Given the description of an element on the screen output the (x, y) to click on. 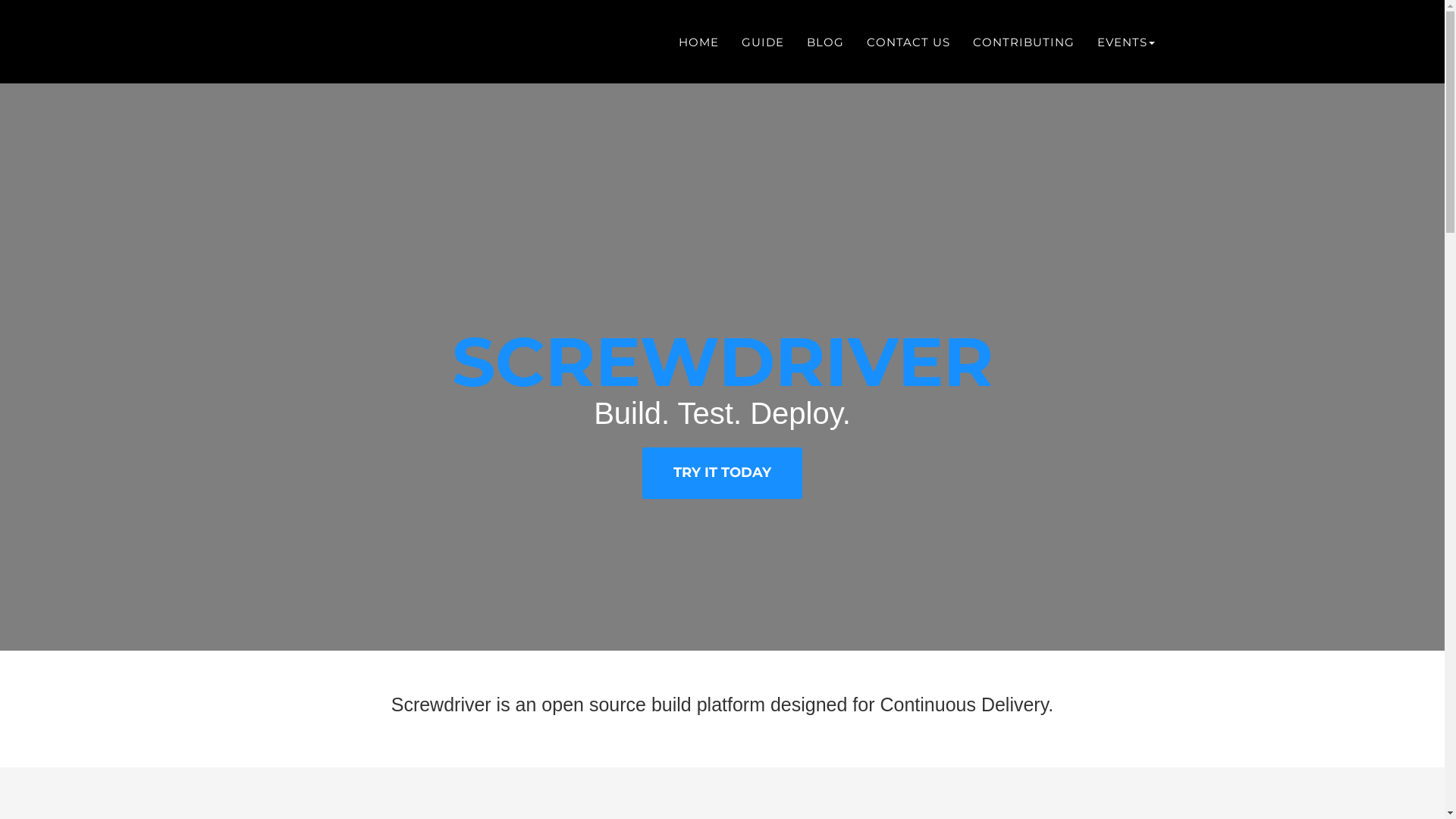
SCREWDRIVER.CD Element type: text (352, 43)
EVENTS Element type: text (1125, 41)
TRY IT TODAY Element type: text (722, 472)
HOME Element type: text (698, 41)
BLOG Element type: text (824, 41)
CONTRIBUTING Element type: text (1023, 41)
GUIDE Element type: text (761, 41)
CONTACT US Element type: text (908, 41)
SCREWDRIVER Element type: text (722, 361)
